Given the description of an element on the screen output the (x, y) to click on. 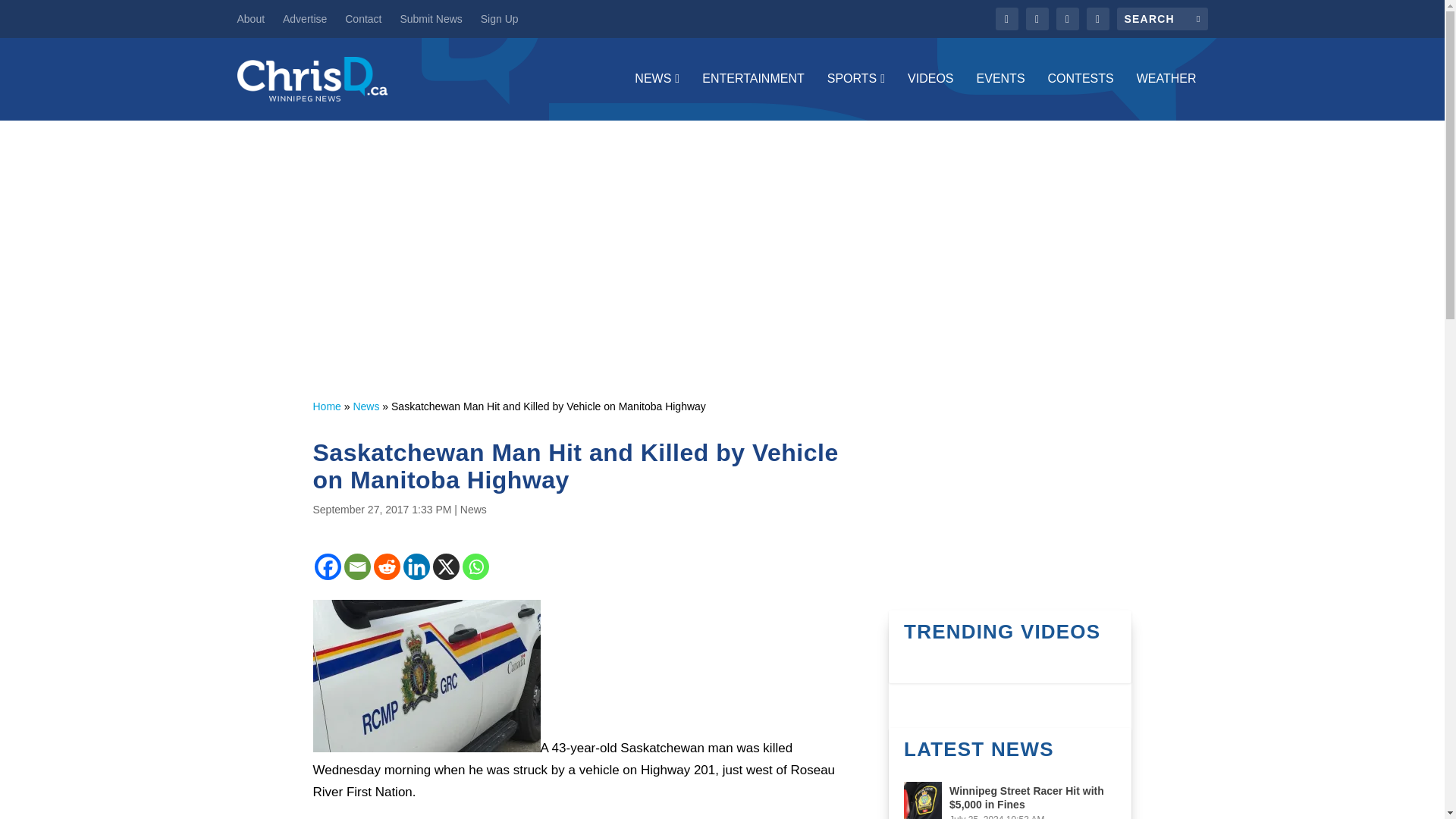
CONTESTS (1080, 96)
Advertise (304, 18)
ENTERTAINMENT (753, 96)
Submit News (429, 18)
Whatsapp (476, 566)
WEATHER (1166, 96)
News (365, 406)
VIDEOS (930, 96)
About (249, 18)
Reddit (385, 566)
Email (357, 566)
SPORTS (856, 96)
Contact (363, 18)
Linkedin (416, 566)
Sign Up (499, 18)
